Given the description of an element on the screen output the (x, y) to click on. 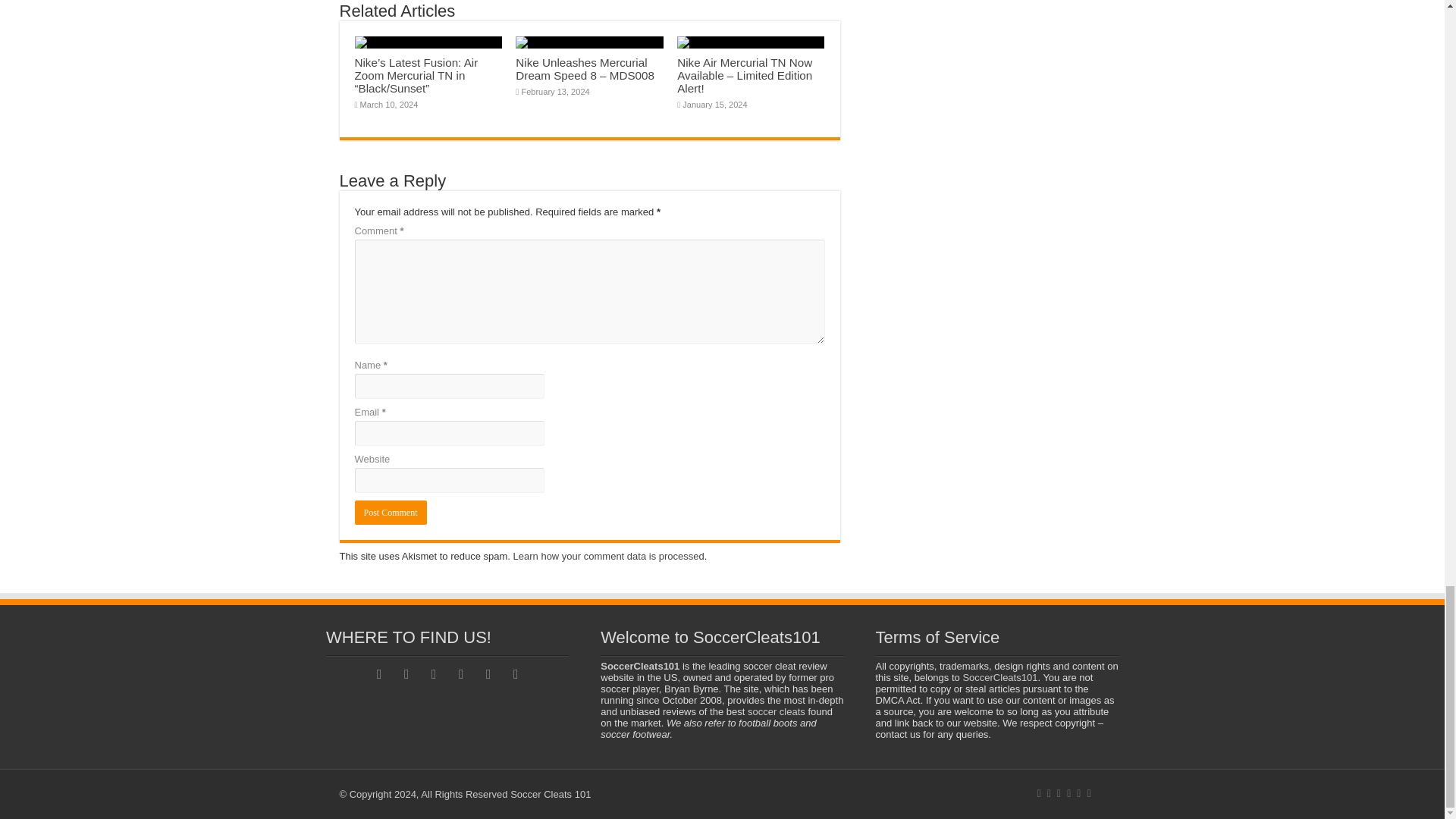
Post Comment (390, 512)
